Given the description of an element on the screen output the (x, y) to click on. 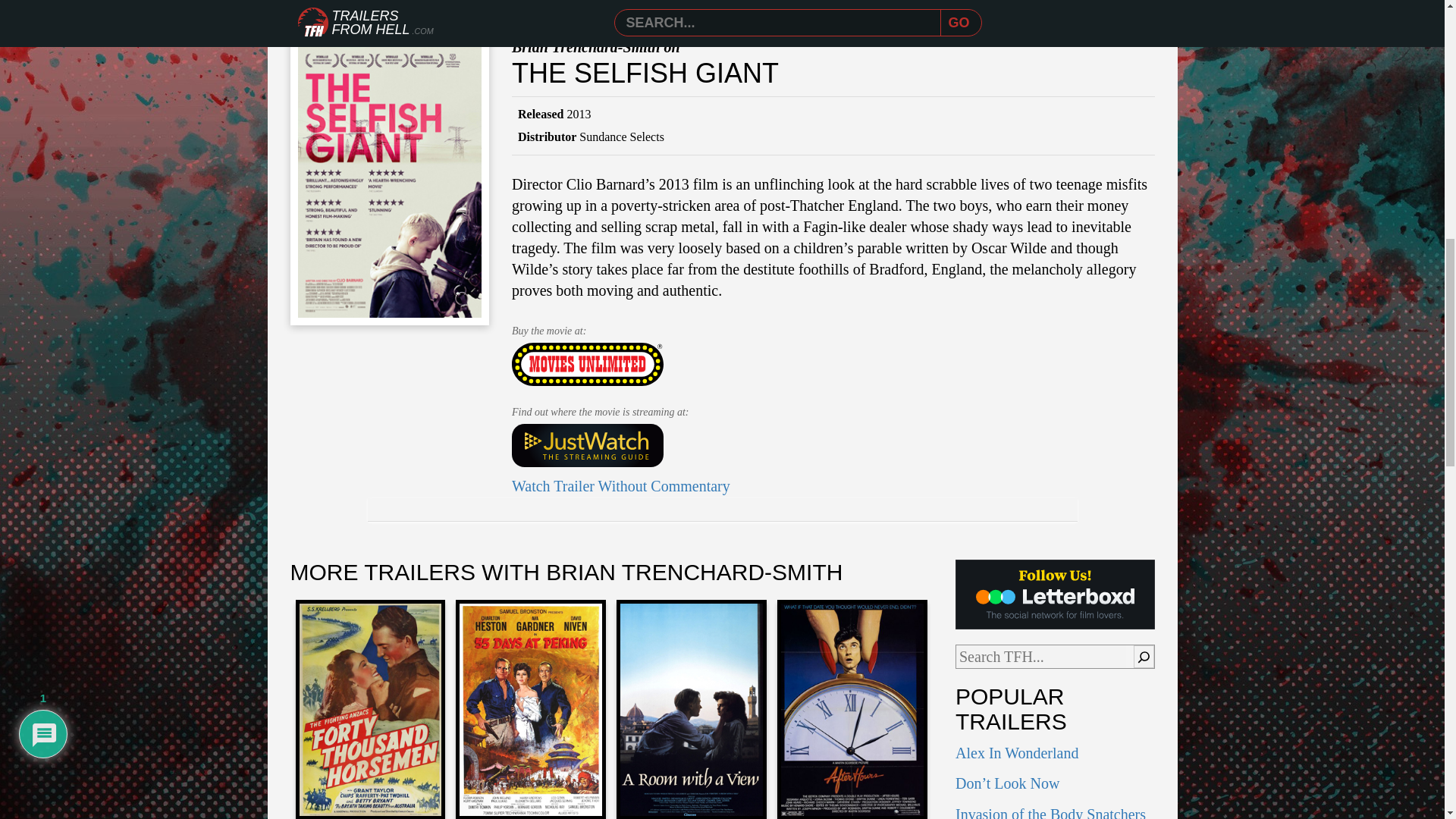
Buy The Selfish Giant from Movies Unlimited. (587, 363)
Just Watch Streaming Guide (587, 445)
Brian Trenchard-Smith on THE SELFISH GIANT (721, 6)
